Given the description of an element on the screen output the (x, y) to click on. 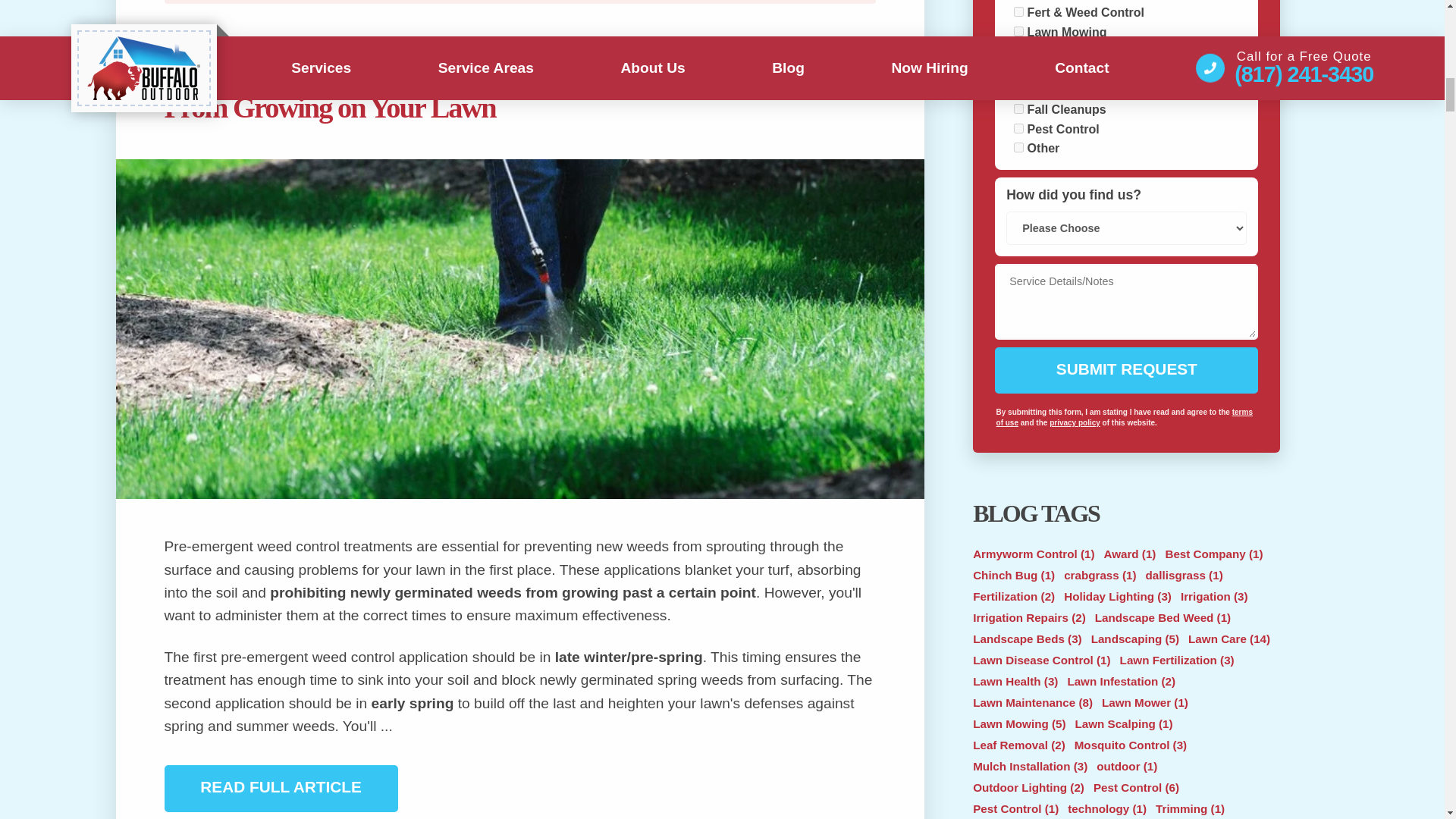
Pest Control (1018, 128)
Other (1018, 147)
Lawn Mowing (1018, 31)
Mulch Installs (1018, 70)
Trimming (1018, 50)
Fall Cleanups (1018, 108)
Leaf Removals (1018, 90)
